Given the description of an element on the screen output the (x, y) to click on. 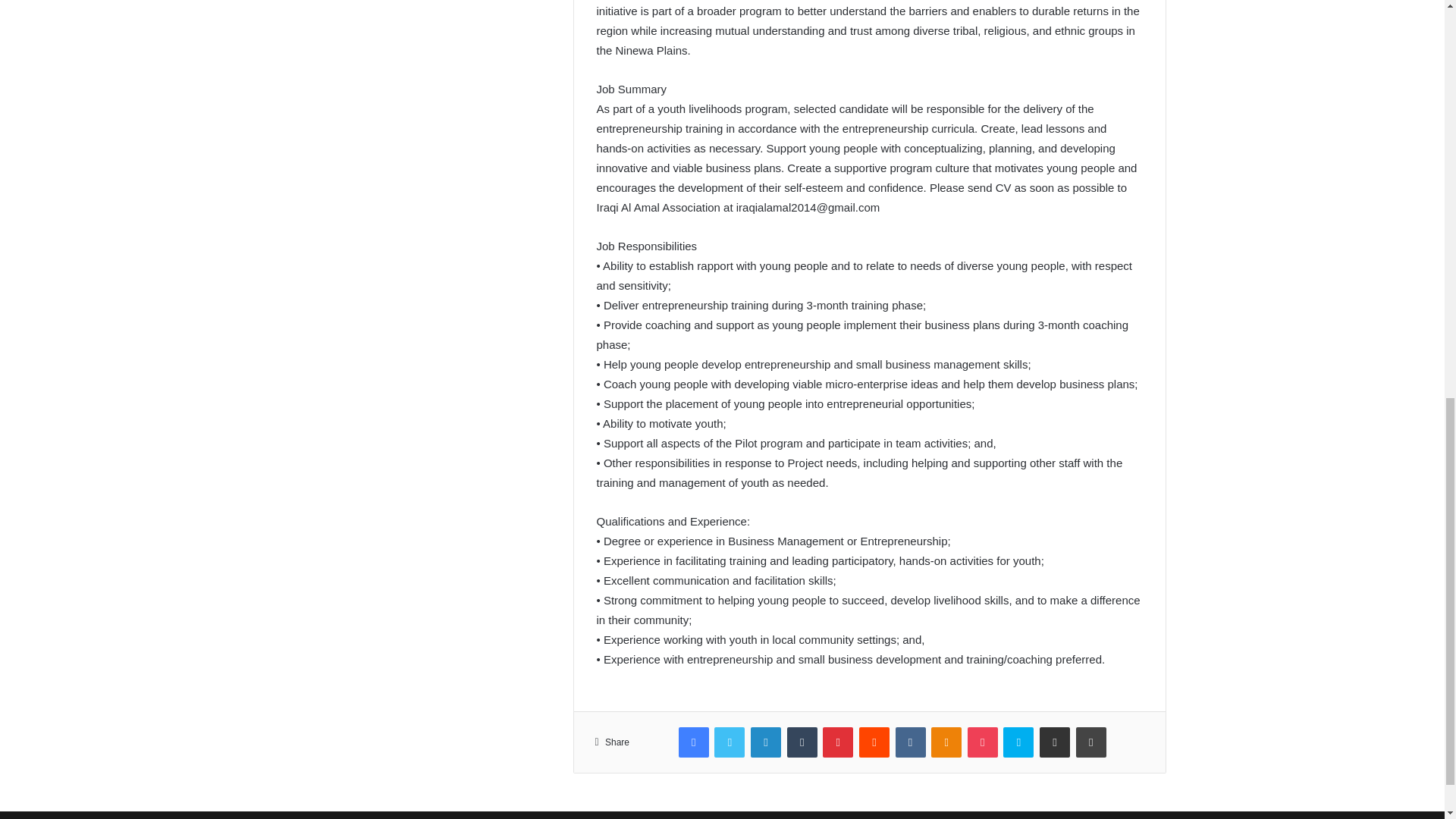
Odnoklassniki (945, 742)
Facebook (693, 742)
LinkedIn (765, 742)
Tumblr (801, 742)
Twitter (729, 742)
Facebook (693, 742)
Reddit (874, 742)
Tumblr (801, 742)
Pocket (982, 742)
Pinterest (837, 742)
Pinterest (837, 742)
VKontakte (910, 742)
Share via Email (1054, 742)
Twitter (729, 742)
LinkedIn (765, 742)
